Given the description of an element on the screen output the (x, y) to click on. 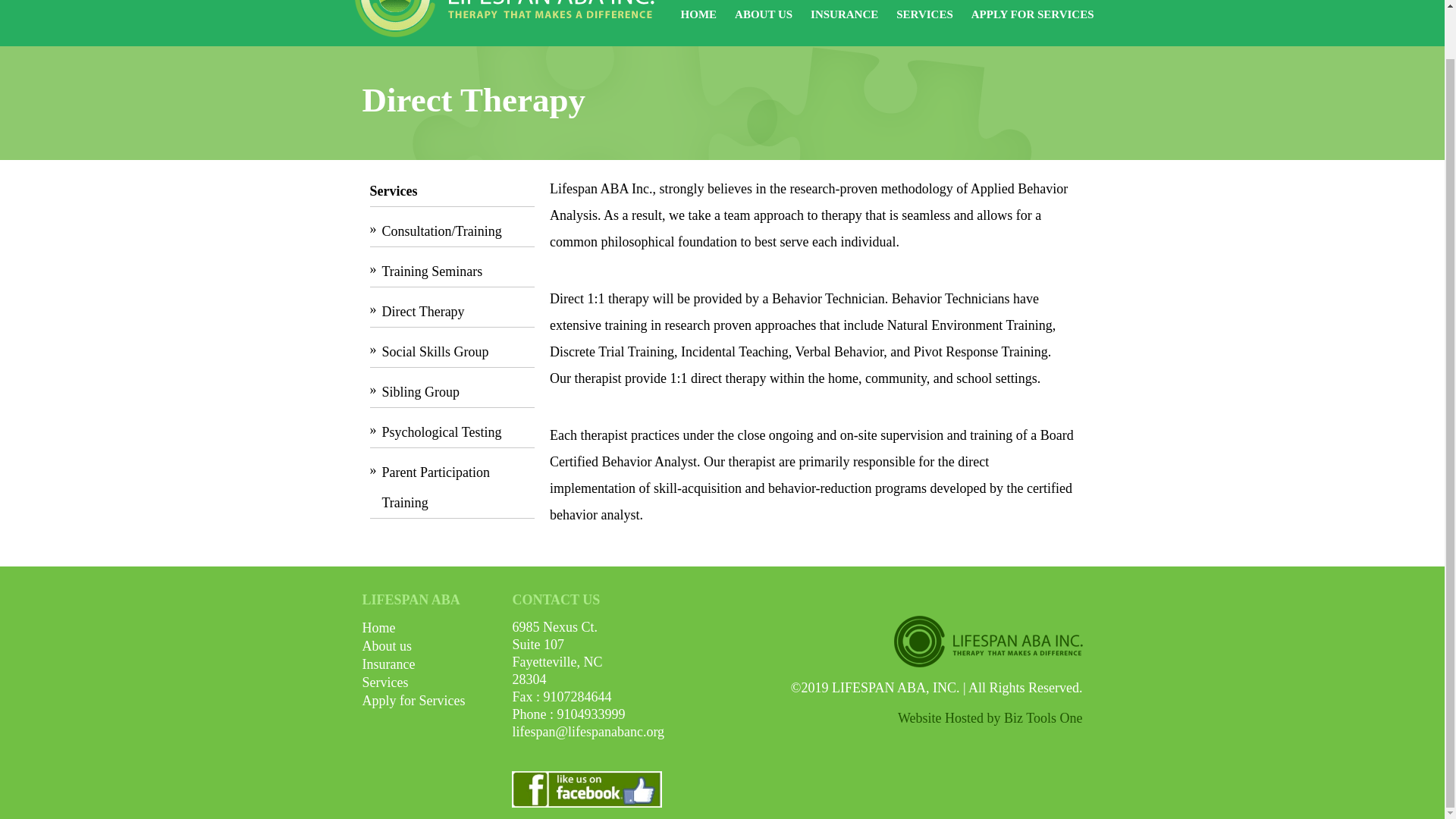
Apply for Services (413, 700)
ABOUT US (763, 16)
Home (379, 627)
Social Skills Group (458, 350)
Sibling Group (458, 391)
Services (452, 190)
About us (387, 645)
APPLY FOR SERVICES (1032, 16)
INSURANCE (843, 16)
SERVICES (924, 16)
Services (385, 682)
HOME (699, 16)
Training Seminars (458, 270)
Insurance (388, 663)
Direct Therapy (458, 311)
